Given the description of an element on the screen output the (x, y) to click on. 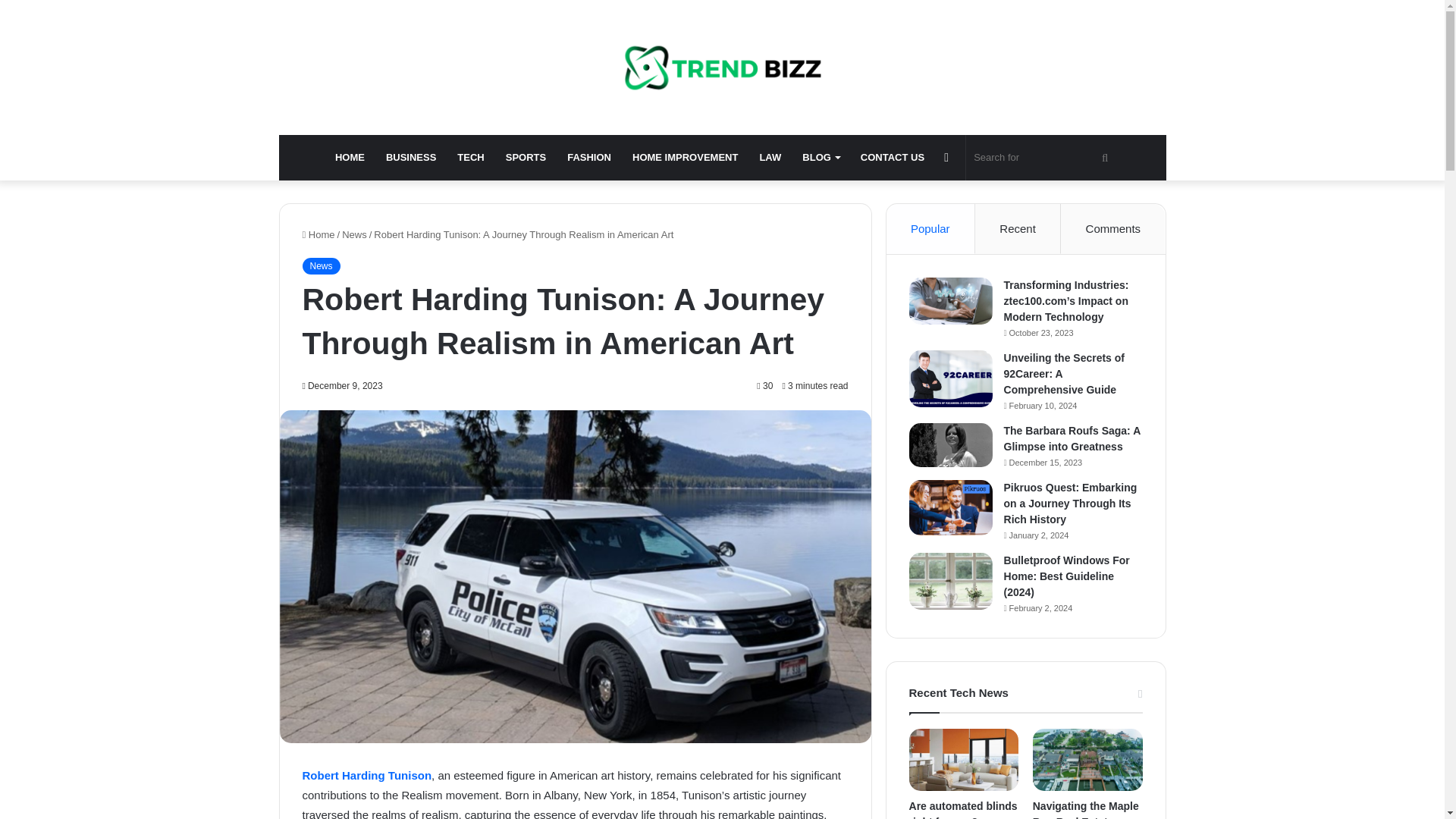
CONTACT US (892, 157)
Robert Harding Tunison (365, 775)
Search for (1042, 157)
News (354, 234)
HOME (349, 157)
Home (317, 234)
FASHION (588, 157)
HOME IMPROVEMENT (684, 157)
News (320, 265)
TECH (470, 157)
Trend Bizz (722, 67)
LAW (770, 157)
SPORTS (525, 157)
BLOG (821, 157)
BUSINESS (410, 157)
